Given the description of an element on the screen output the (x, y) to click on. 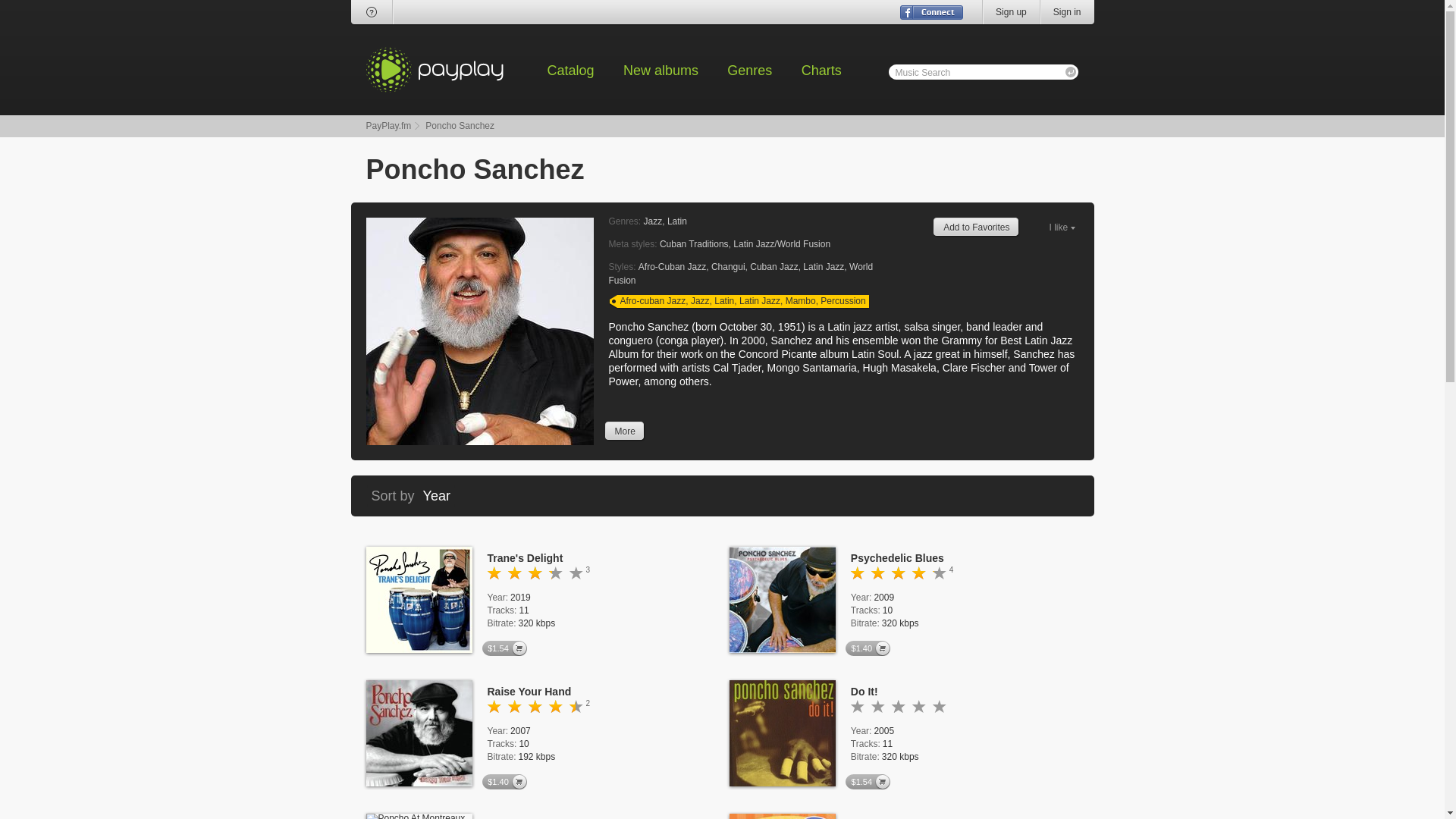
Add to Favorites (975, 227)
Sign up (1011, 12)
Trane's Delight (524, 558)
Jazz (652, 221)
Jazz (700, 300)
Register or login to rate this album (576, 706)
Register or login to rate this album (513, 706)
Percussion (842, 300)
Latin Jazz (759, 300)
Cuban Traditions (694, 244)
Register or login to rate this album (493, 572)
Charts (821, 70)
Register or login to rate this album (554, 706)
Afro-Cuban Jazz (672, 266)
Afro-cuban Jazz (652, 300)
